Given the description of an element on the screen output the (x, y) to click on. 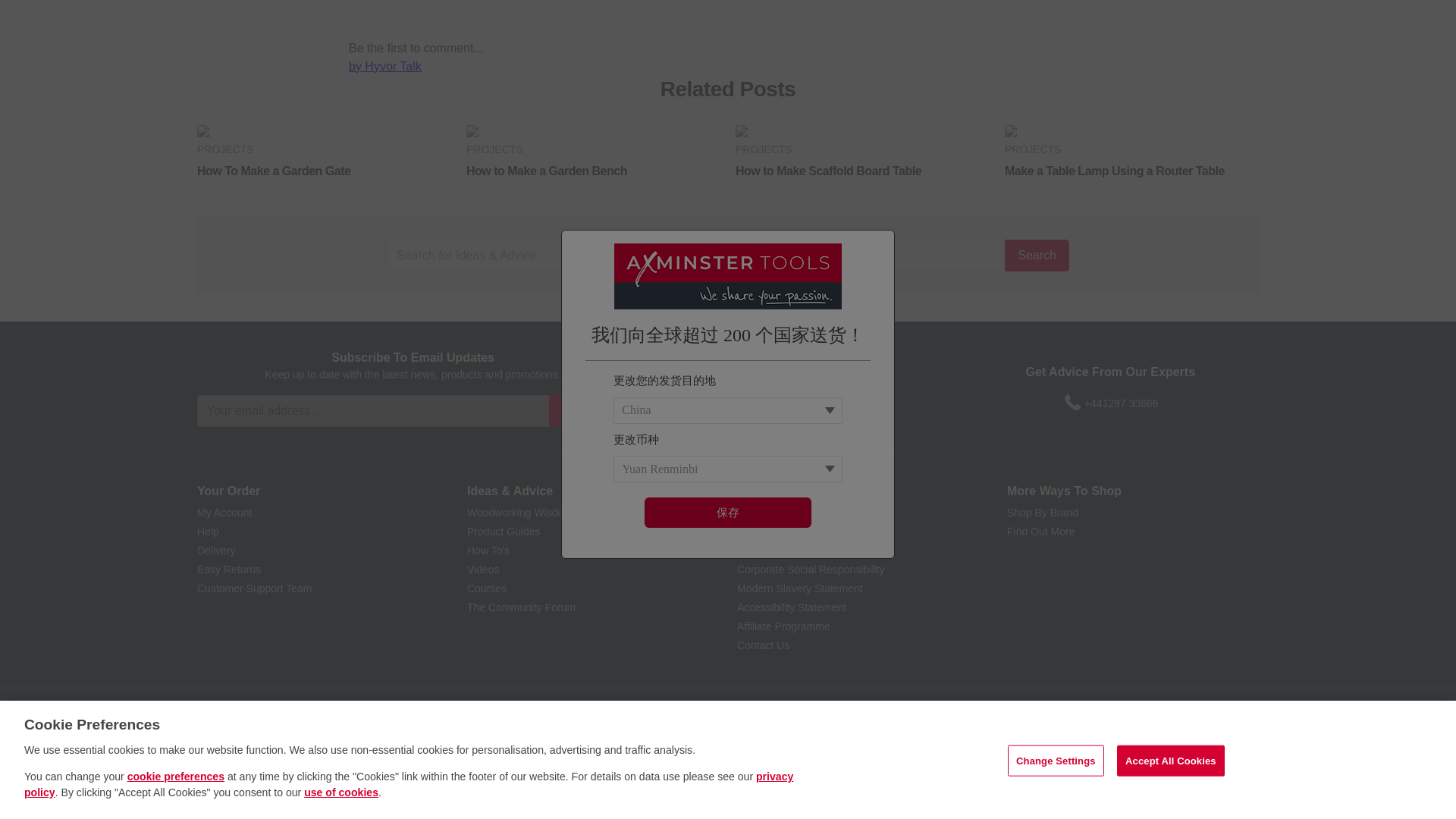
Facebook (710, 402)
Phone (1071, 402)
Community (878, 402)
TikTok (822, 402)
LinkedIn (850, 402)
Instagram (795, 402)
YouTube (766, 402)
